Given the description of an element on the screen output the (x, y) to click on. 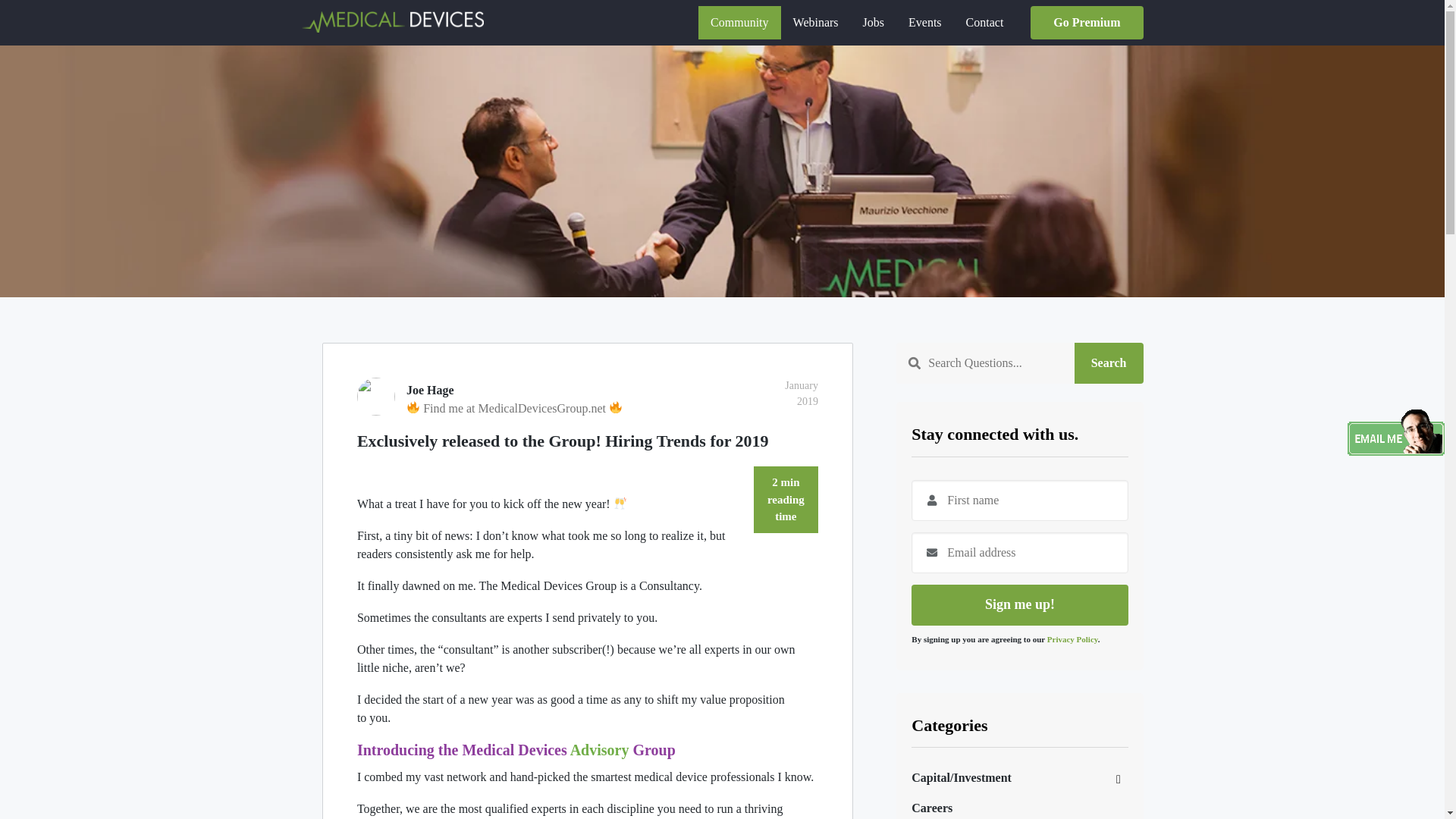
Exclusively released to the Group! Hiring Trends for 2019 (587, 440)
Contact (984, 22)
Events (924, 22)
Go Premium (1086, 22)
Sign me up! (1018, 604)
Medical Devices Group (392, 21)
Medical Devices Group (392, 21)
Jobs (873, 22)
Community (739, 22)
Webinars (815, 22)
Joe Hage (587, 390)
Please fill out this field (1018, 499)
